Given the description of an element on the screen output the (x, y) to click on. 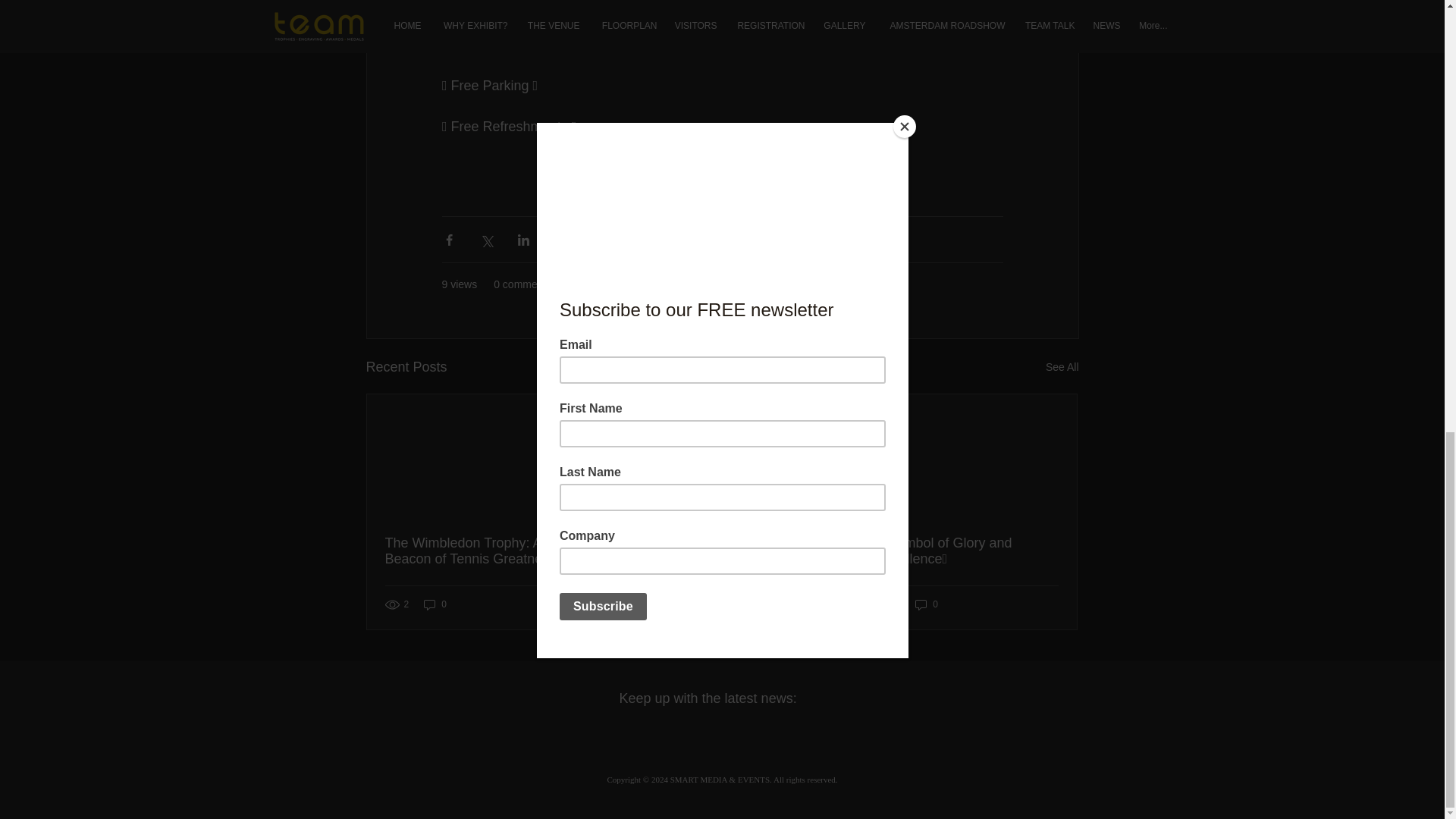
0 (681, 604)
TEAM Roadshow 2025 Announces Show Dates (721, 551)
0 (926, 604)
0 (435, 604)
See All (1061, 367)
The Wimbledon Trophy: A Beacon of Tennis Greatness (476, 551)
